Given the description of an element on the screen output the (x, y) to click on. 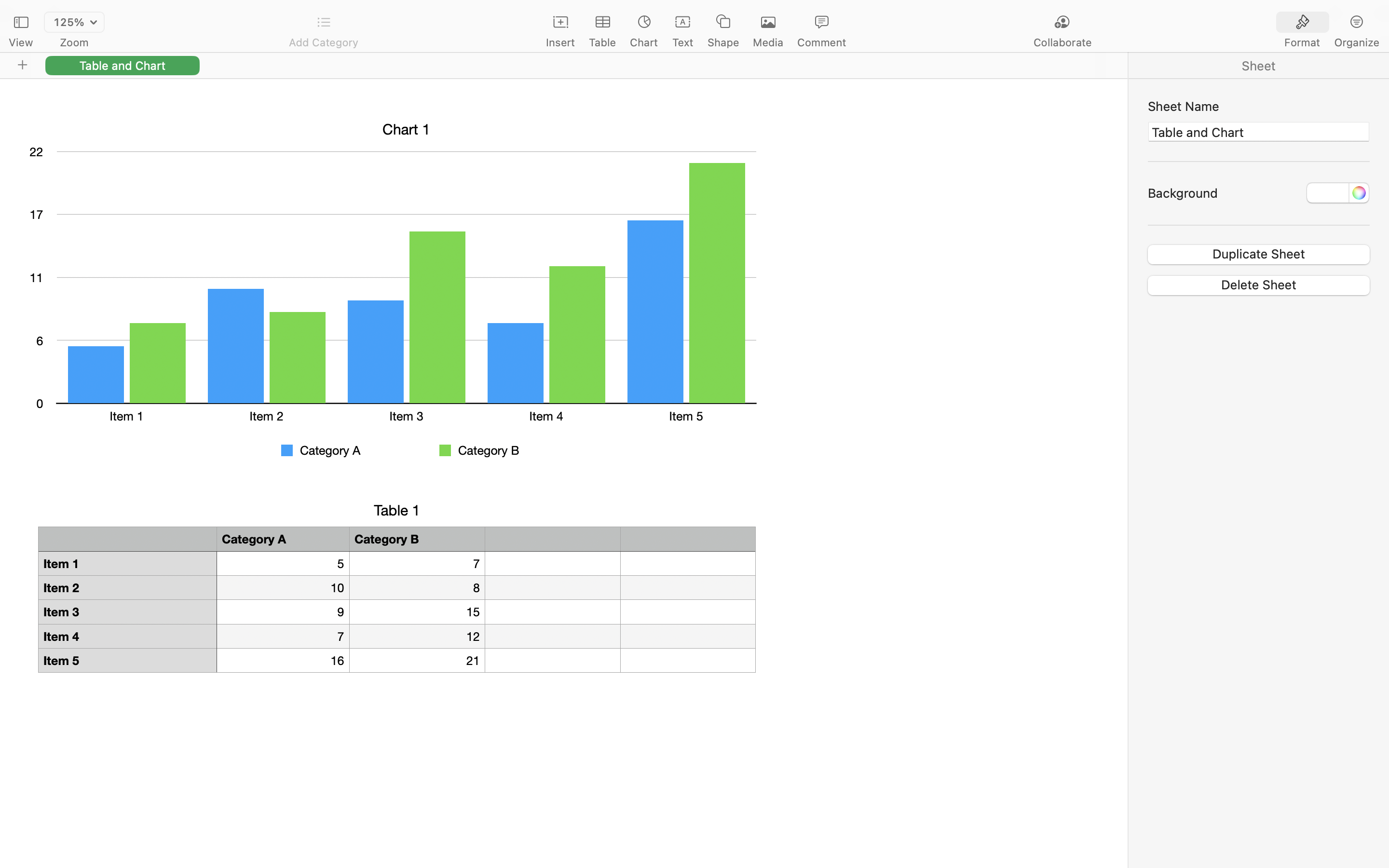
Zoom Element type: AXStaticText (73, 42)
Insert Element type: AXStaticText (560, 42)
Add Category Element type: AXStaticText (322, 42)
<AXUIElement 0x1706ce830> {pid=1420} Element type: AXGroup (1329, 22)
